Given the description of an element on the screen output the (x, y) to click on. 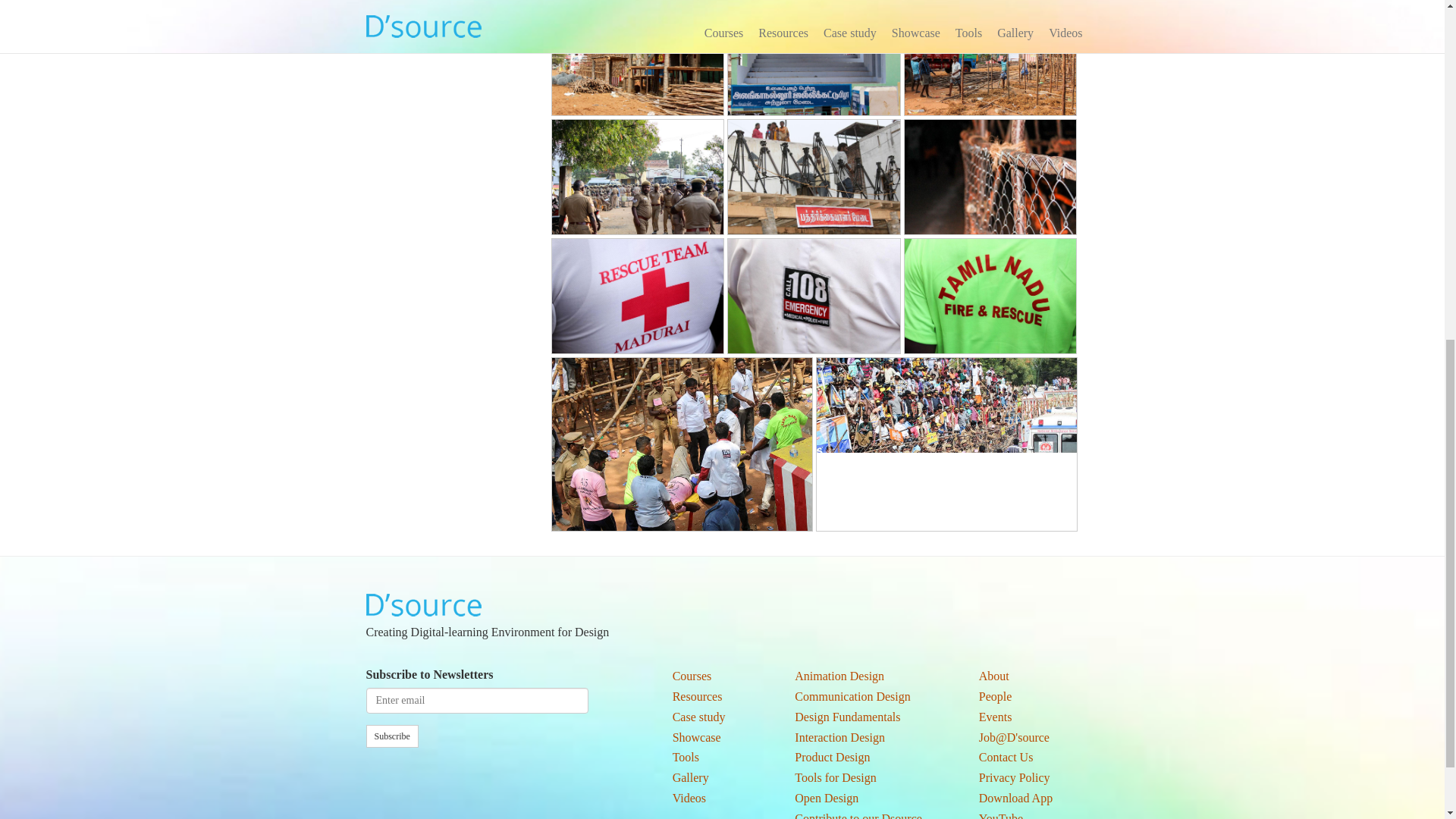
Canes are used for building galleries. (990, 58)
Tourist Gallery prepared for foreigners. (812, 58)
Canes are used for building galleries. (990, 56)
Tourist Gallery prepared for foreigners. (812, 56)
Press Gallery made for the event. (812, 174)
Police personnel were deployed for the protection. (637, 174)
Gallery arrangements for spectators. (637, 58)
Police personnel were deployed for the protection. (637, 176)
Press Gallery made for the event. (812, 176)
Gallery arrangements for spectators. (637, 56)
